Given the description of an element on the screen output the (x, y) to click on. 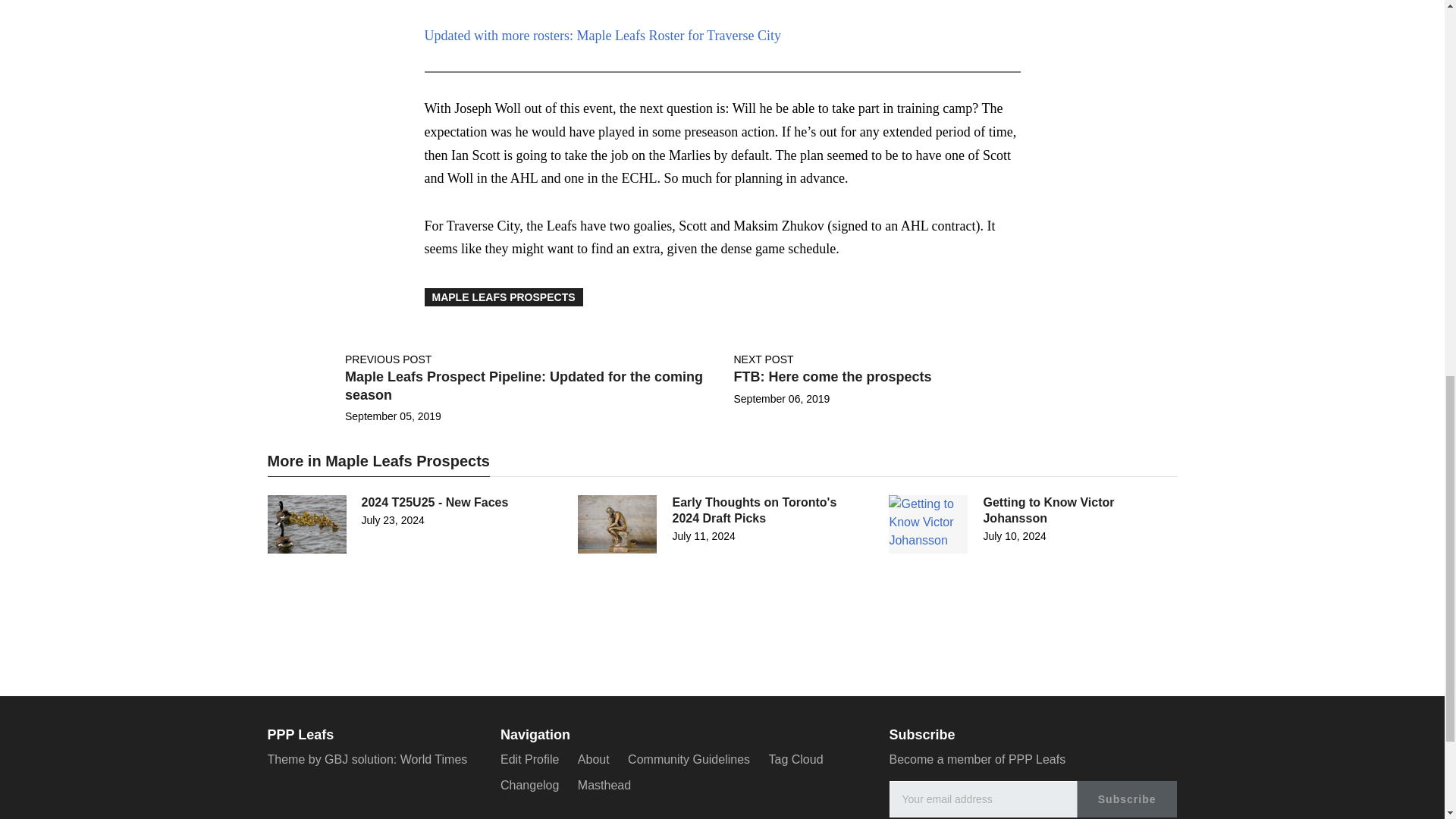
11 July, 2024 (703, 535)
05 September, 2019 (393, 416)
06 September, 2019 (781, 398)
23 July, 2024 (392, 520)
10 July, 2024 (1013, 535)
